Given the description of an element on the screen output the (x, y) to click on. 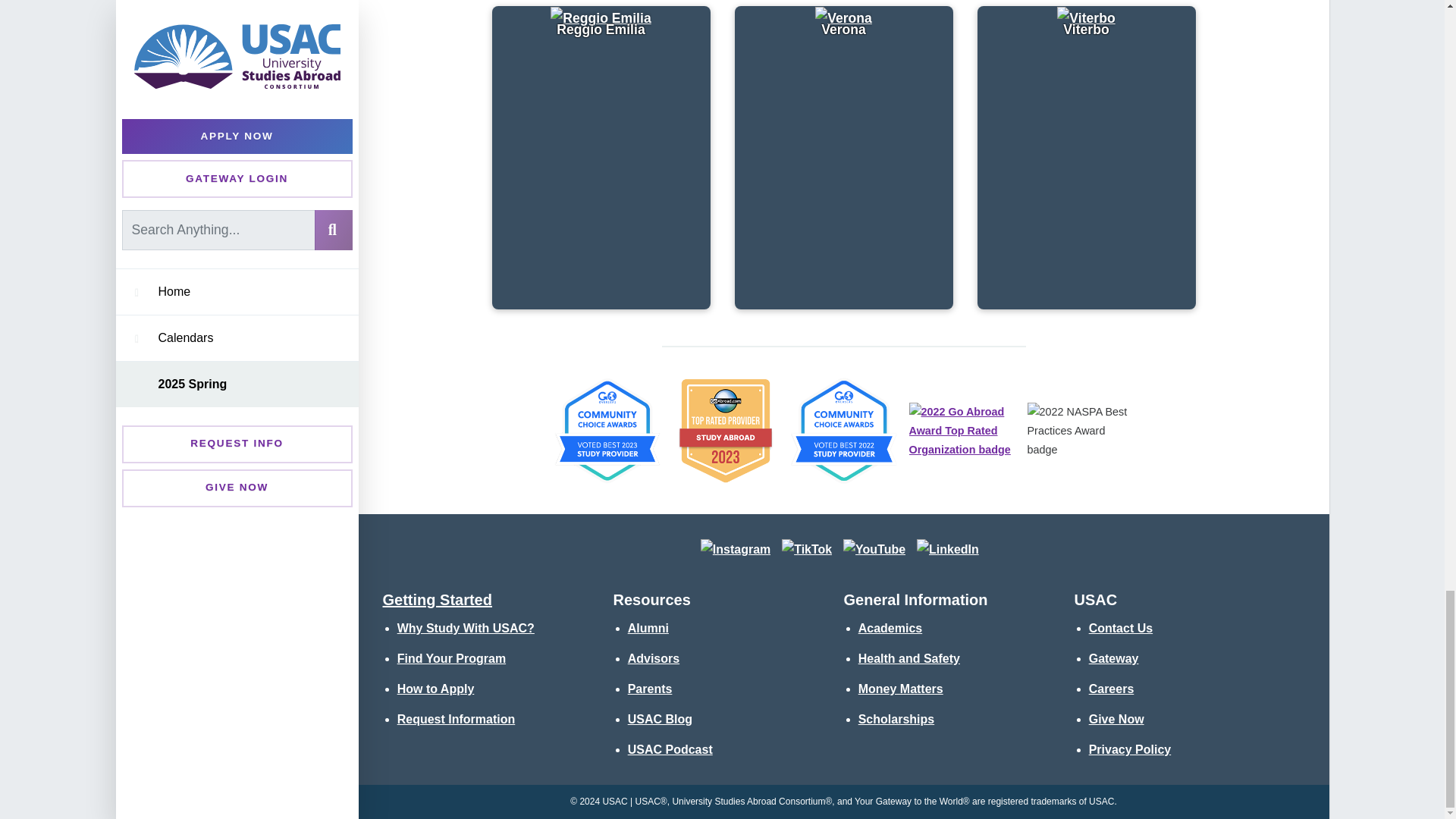
Go Abroad award (724, 430)
Go Abroad Award 2022 (961, 431)
Find Your Program (451, 658)
Go Overseas award (606, 430)
Why Study With USAC? (465, 627)
Getting Started (436, 599)
Go Overseas award (843, 430)
